Given the description of an element on the screen output the (x, y) to click on. 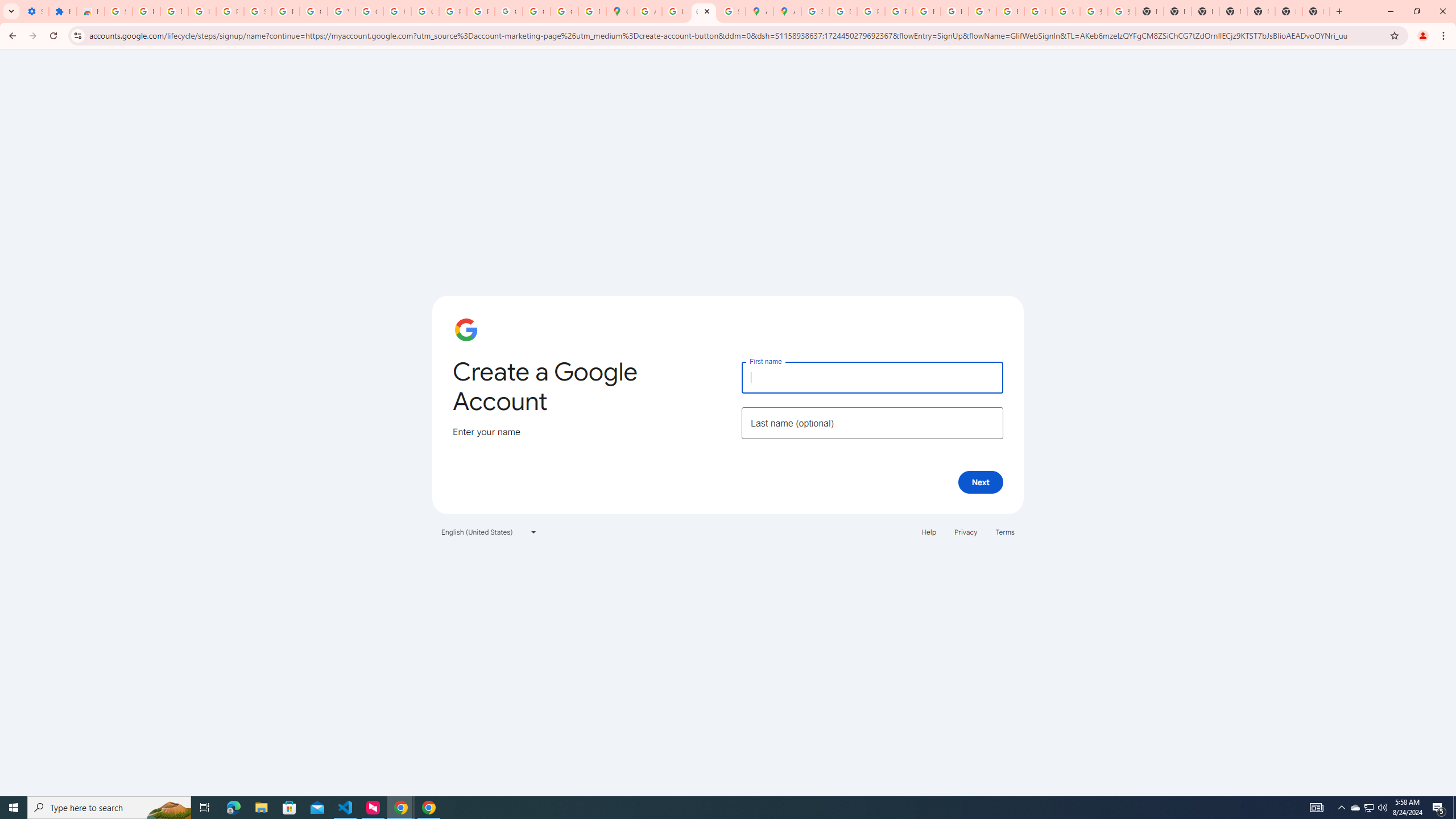
Reviews: Helix Fruit Jump Arcade Game (90, 11)
New Tab (1233, 11)
Safety in Our Products - Google Safety Center (731, 11)
Settings - On startup (34, 11)
Last name (optional) (871, 422)
New Tab (1316, 11)
Sign in - Google Accounts (257, 11)
